Given the description of an element on the screen output the (x, y) to click on. 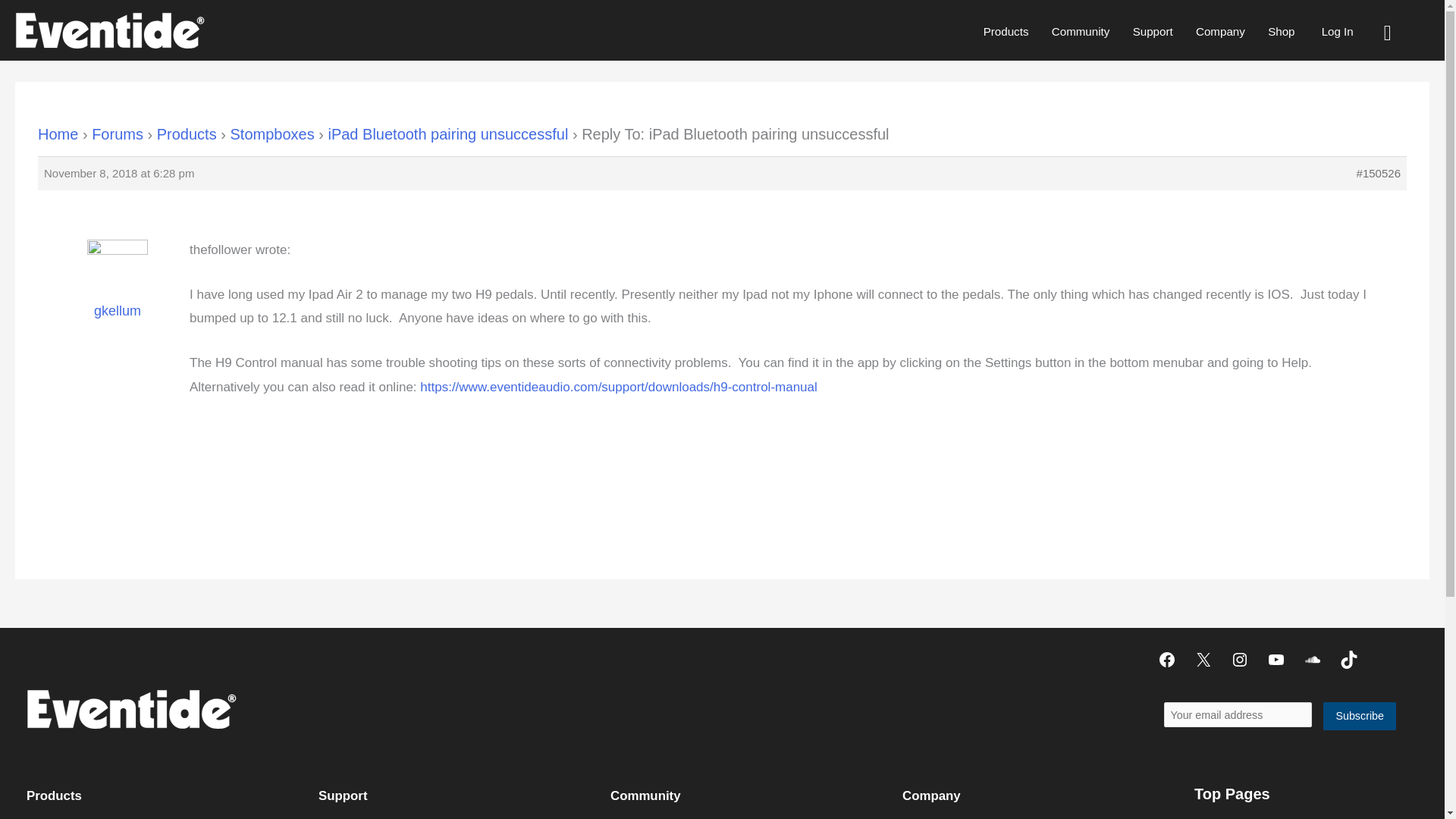
eventide-logo-white (130, 708)
Subscribe (1359, 715)
View gkellum's profile (117, 289)
Log In (1337, 31)
Company (1220, 31)
Community (1081, 31)
Support (1152, 31)
Products (1006, 31)
Shop (1281, 31)
